Given the description of an element on the screen output the (x, y) to click on. 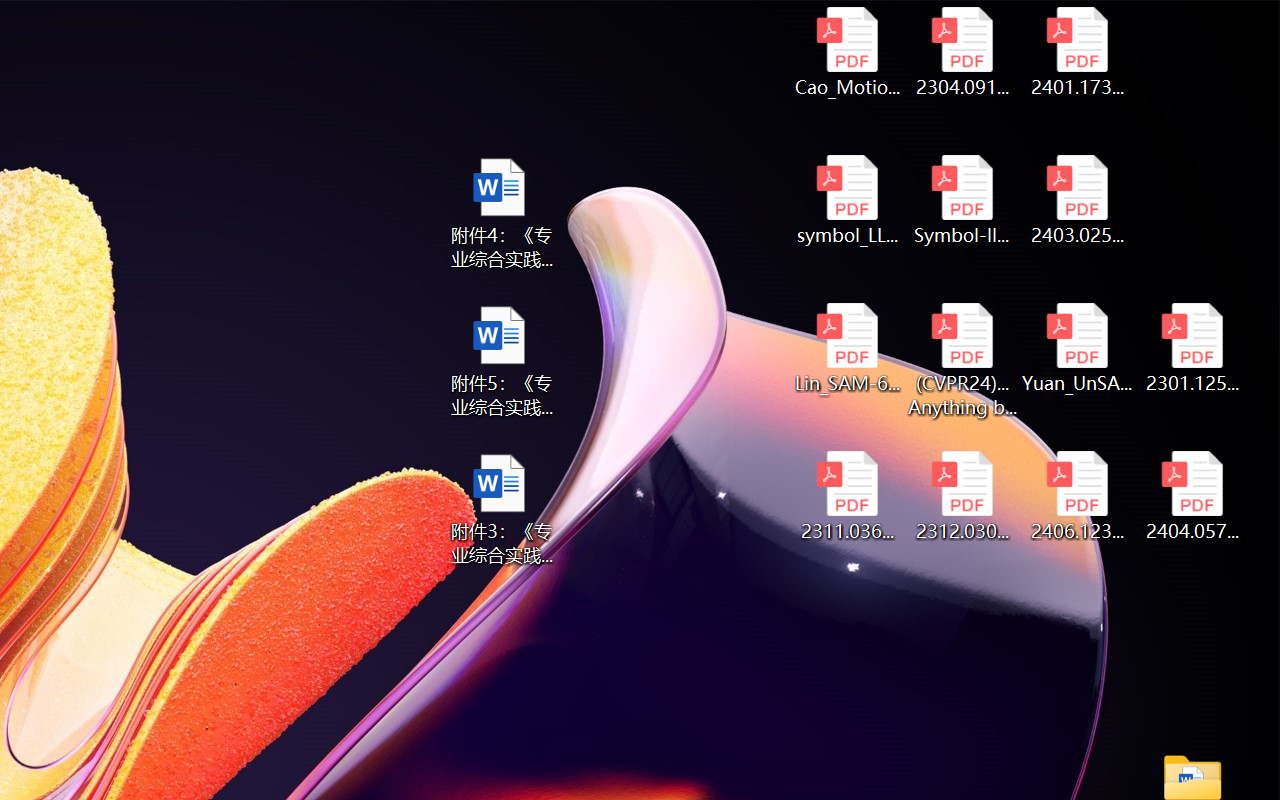
Symbol-llm-v2.pdf (962, 200)
2311.03658v2.pdf (846, 496)
2301.12597v3.pdf (1192, 348)
(CVPR24)Matching Anything by Segmenting Anything.pdf (962, 360)
2403.02502v1.pdf (1077, 200)
2404.05719v1.pdf (1192, 496)
2401.17399v1.pdf (1077, 52)
2312.03032v2.pdf (962, 496)
2406.12373v2.pdf (1077, 496)
